Given the description of an element on the screen output the (x, y) to click on. 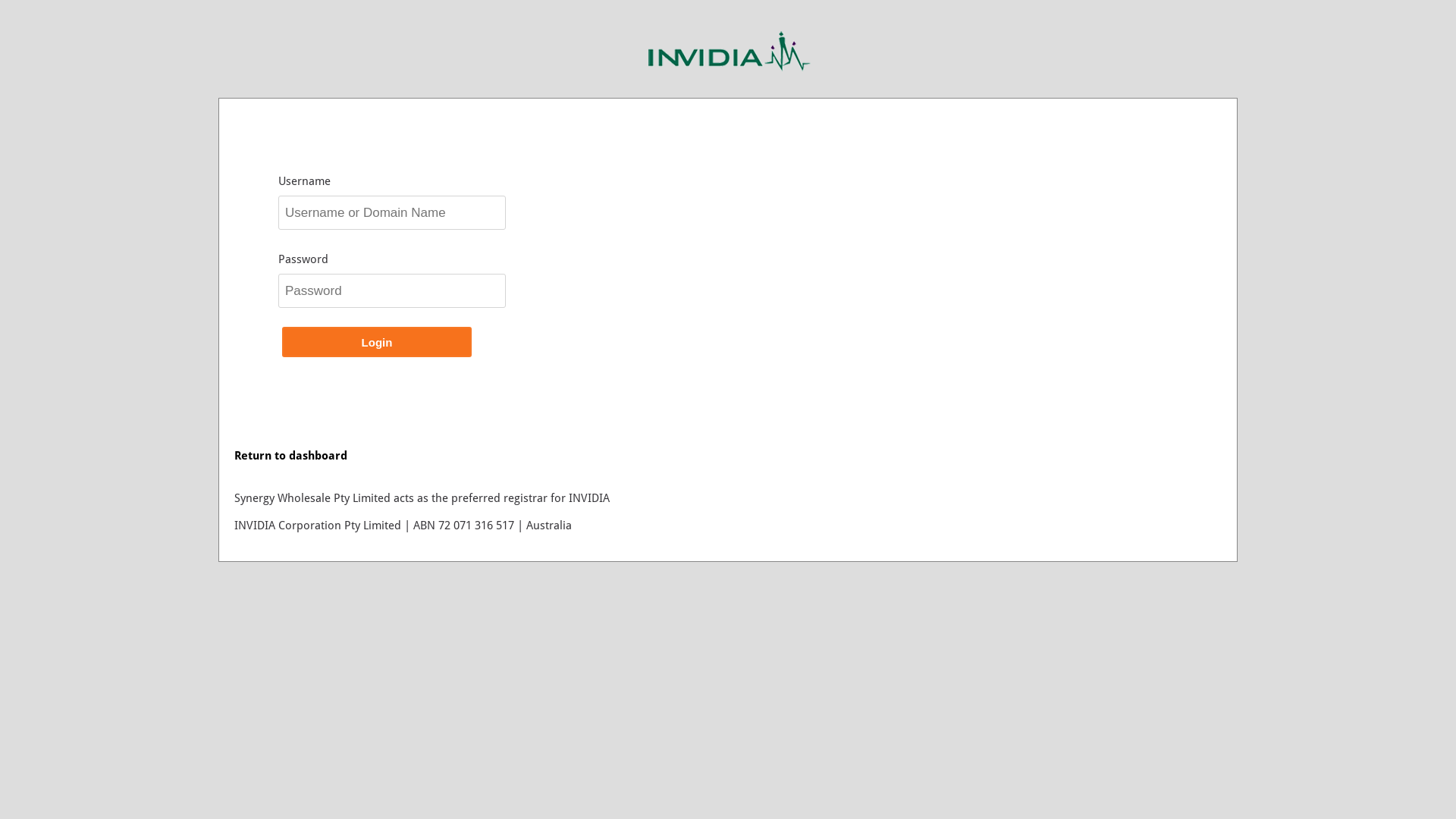
Login Element type: text (376, 341)
Return to dashboard Element type: text (290, 455)
